Given the description of an element on the screen output the (x, y) to click on. 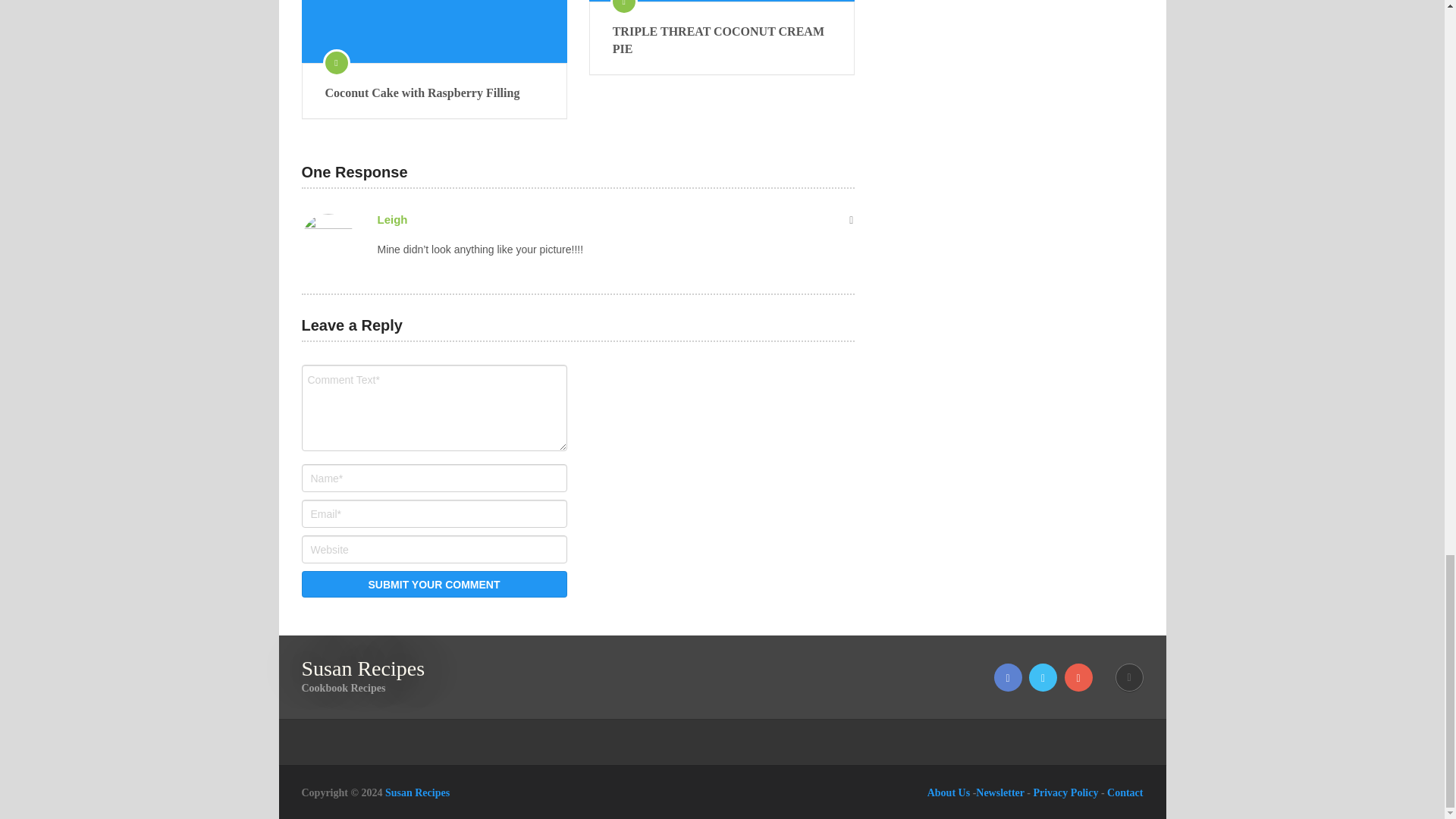
TRIPLE THREAT COCONUT CREAM PIE (721, 40)
TRIPLE THREAT COCONUT CREAM PIE (721, 40)
Coconut Cake with Raspberry Filling (434, 31)
Submit Your Comment (434, 583)
Submit Your Comment (434, 583)
Leigh (392, 219)
Coconut Cake with Raspberry Filling (433, 93)
Susan Recipes (363, 668)
Coconut Cake with Raspberry Filling (433, 93)
Susan Recipes (417, 792)
About Us (948, 792)
